Given the description of an element on the screen output the (x, y) to click on. 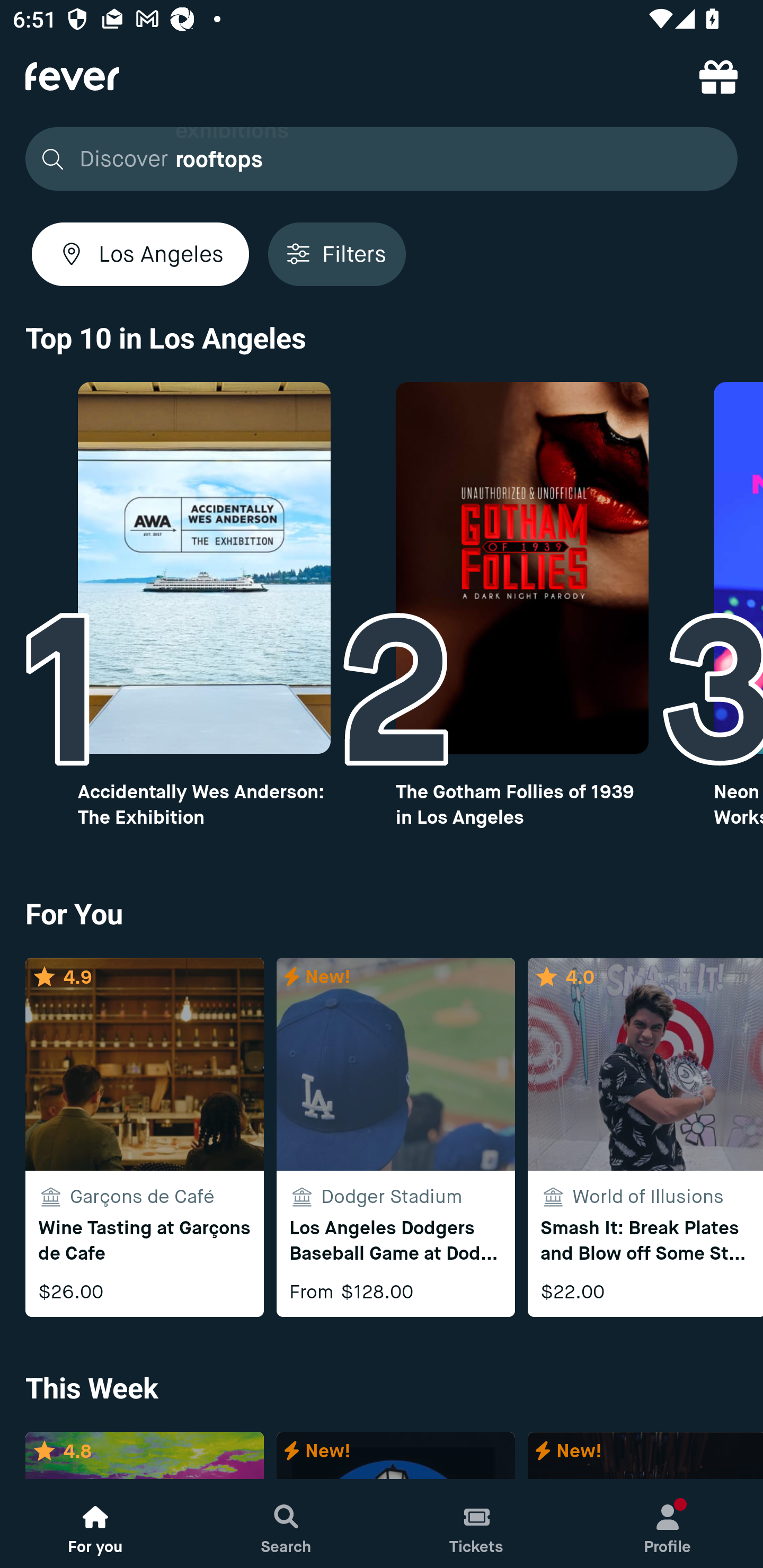
referral (718, 75)
Discover exhibitions (381, 158)
Discover exhibitions (376, 158)
Los Angeles (140, 253)
Filters (336, 253)
Top10 image (203, 568)
Top10 image (521, 568)
Search (285, 1523)
Tickets (476, 1523)
Profile, New notification Profile (667, 1523)
